Given the description of an element on the screen output the (x, y) to click on. 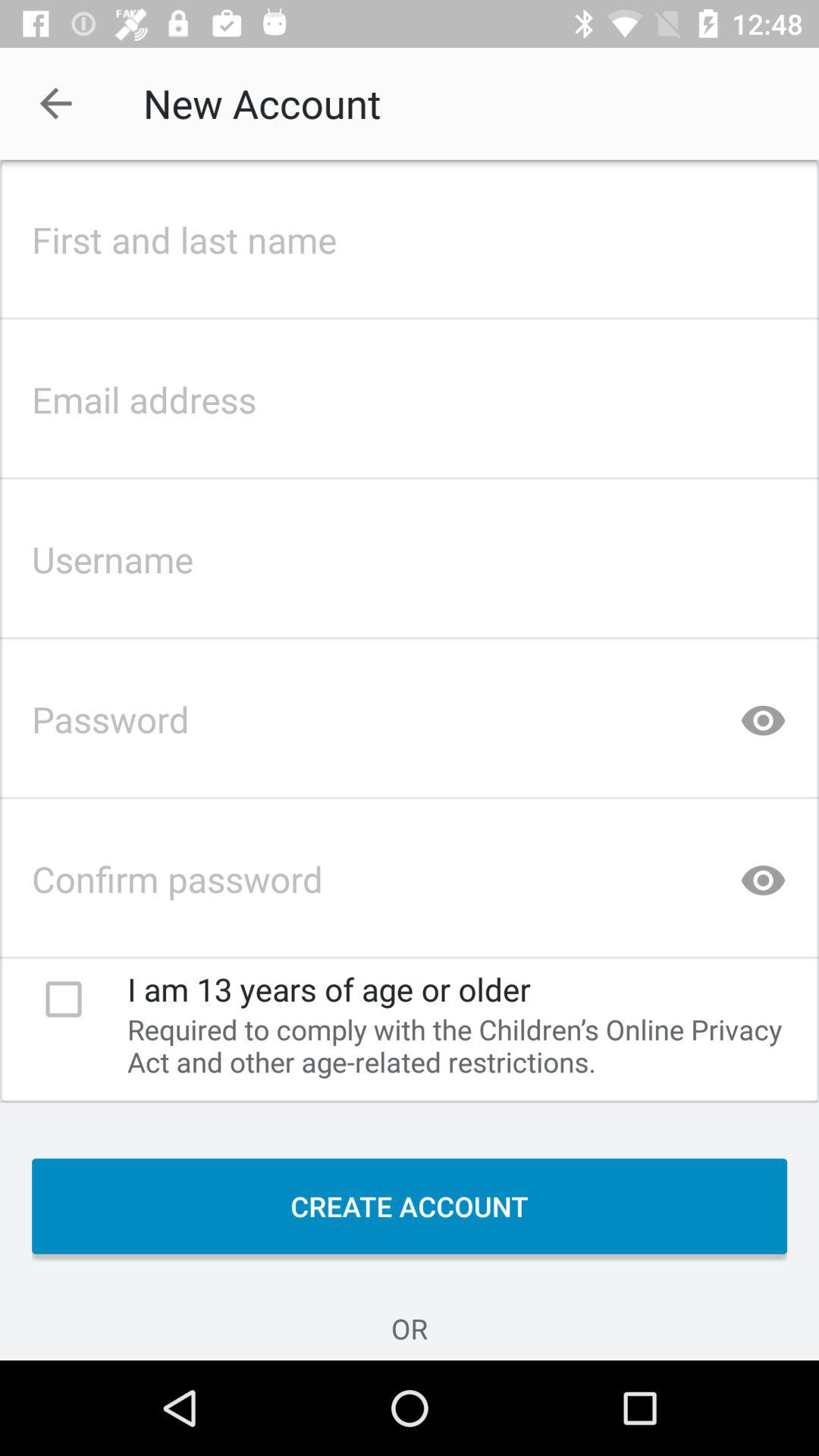
press the icon next to the i am 13 icon (63, 999)
